Given the description of an element on the screen output the (x, y) to click on. 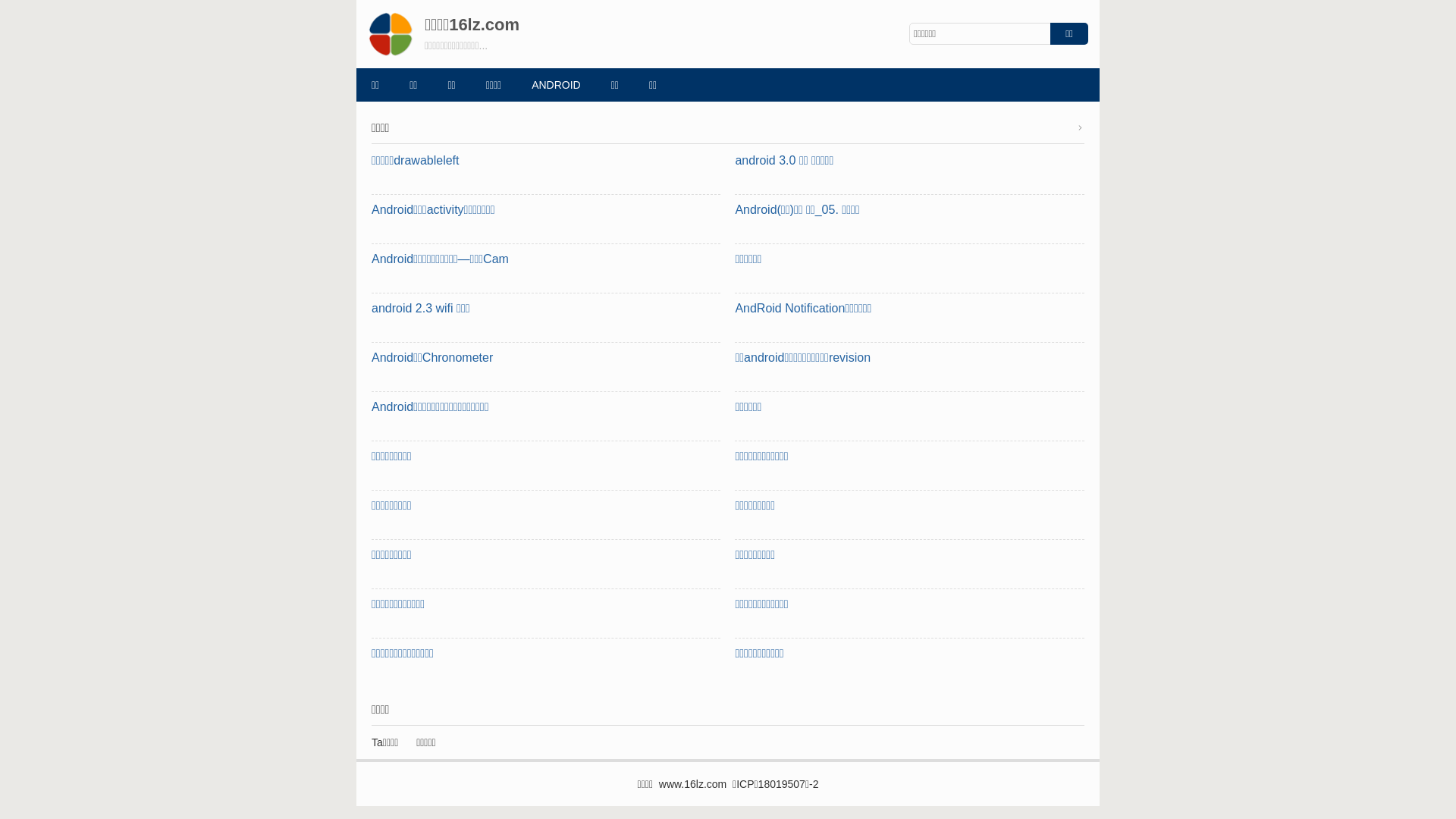
ANDROID Element type: text (556, 84)
